Given the description of an element on the screen output the (x, y) to click on. 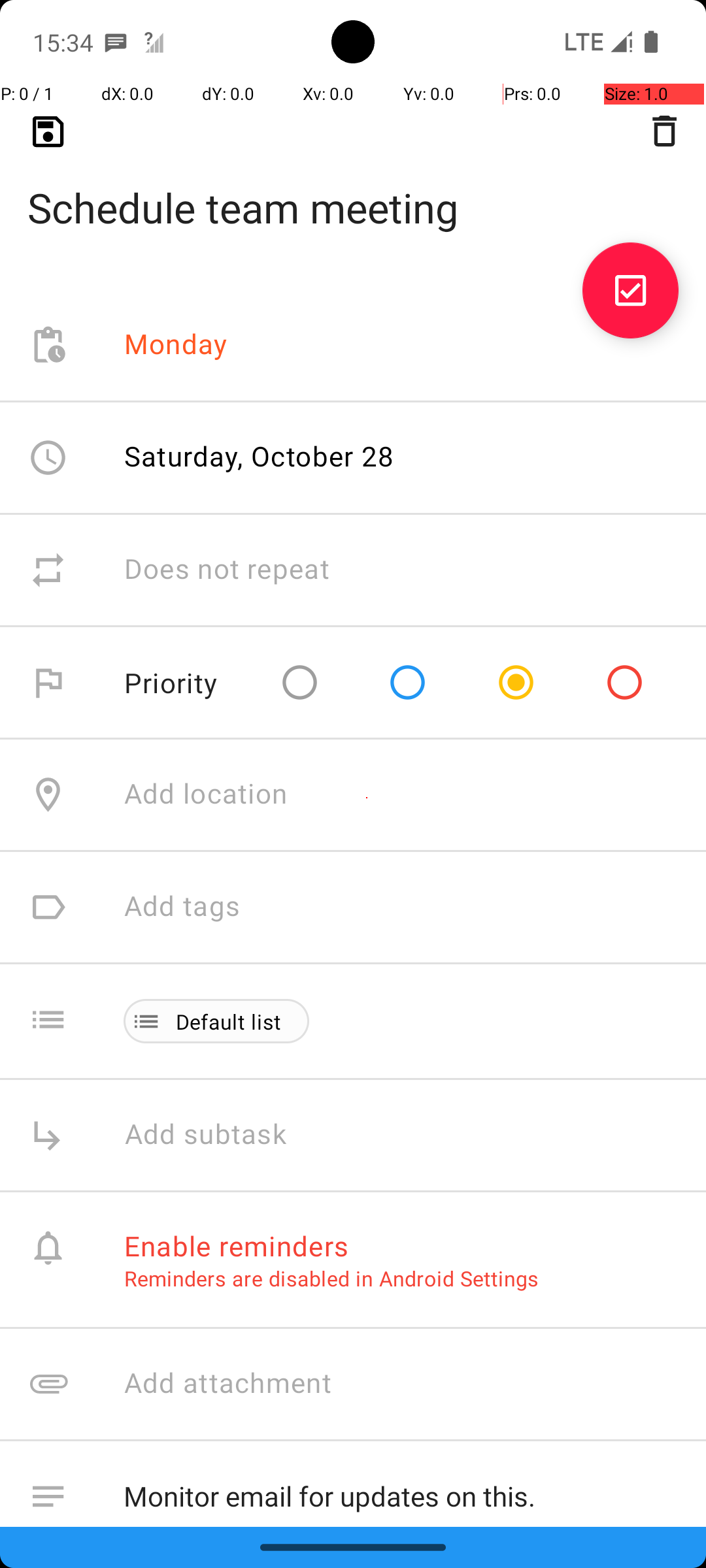
Schedule team meeting Element type: android.widget.EditText (353, 186)
Saturday, October 28 Element type: android.widget.TextView (258, 455)
Monitor email for updates on this. Element type: android.widget.EditText (400, 1493)
